Given the description of an element on the screen output the (x, y) to click on. 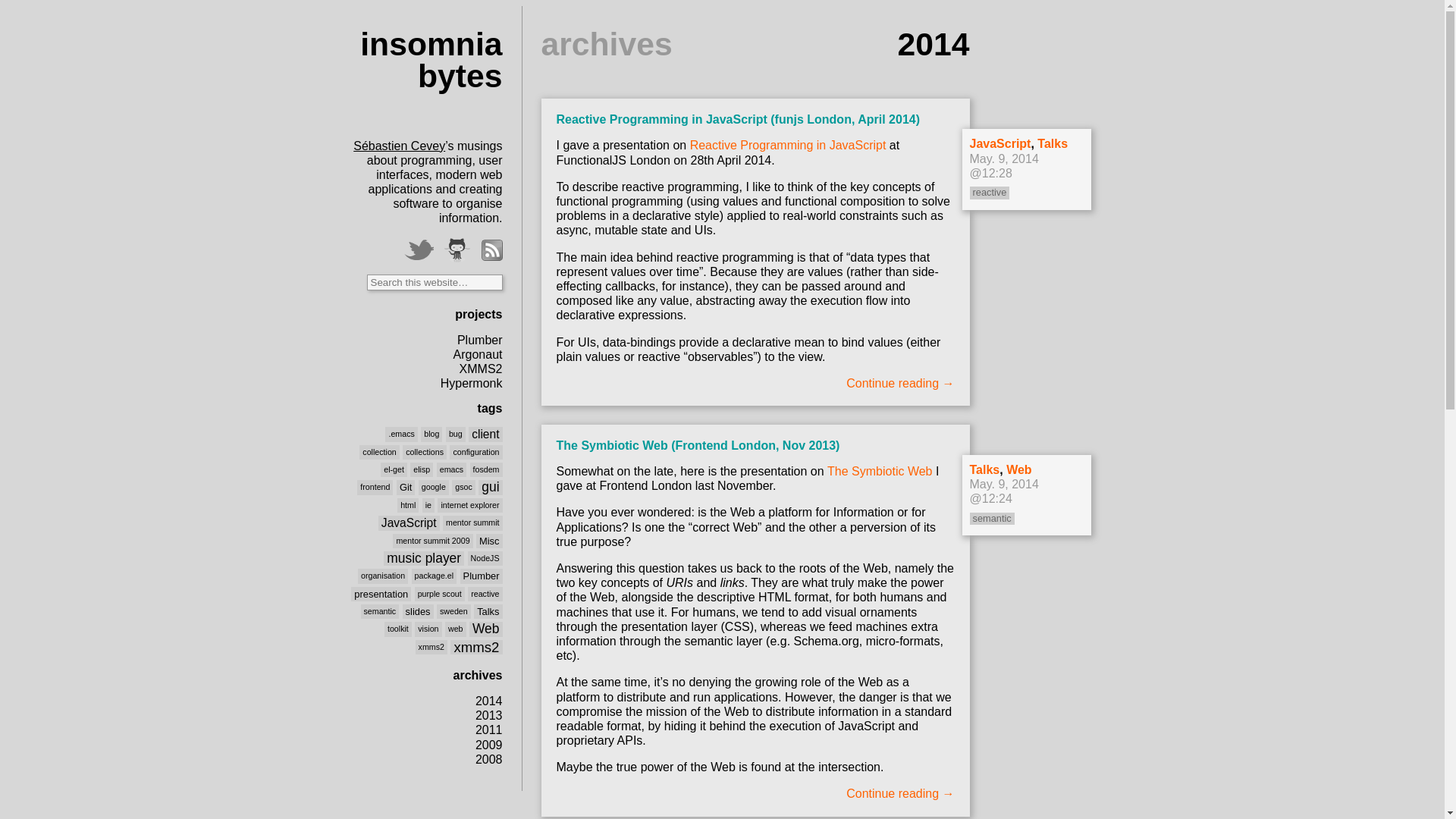
configuration Element type: text (475, 451)
bug Element type: text (455, 433)
2008 Element type: text (488, 759)
Hypermonk Element type: text (471, 382)
Web Element type: text (485, 628)
music player Element type: text (423, 557)
internet explorer Element type: text (469, 504)
sweden Element type: text (453, 610)
Plumber Element type: text (479, 339)
collections Element type: text (424, 451)
client Element type: text (484, 433)
The Symbiotic Web (Frontend London, Nov 2013) Element type: text (698, 445)
package.el Element type: text (434, 575)
web Element type: text (455, 628)
insomnia bytes Element type: text (431, 59)
May. 9, 2014 @12:28 Element type: text (1003, 165)
organisation Element type: text (382, 575)
blog Element type: text (431, 433)
Plumber Element type: text (481, 575)
ie Element type: text (428, 504)
semantic Element type: text (380, 610)
reactive Element type: text (484, 593)
mentor summit 2009 Element type: text (432, 540)
Misc Element type: text (488, 540)
collection Element type: text (378, 451)
reactive Element type: text (989, 191)
semantic Element type: text (991, 518)
XMMS2 Element type: text (480, 368)
mentor summit Element type: text (471, 522)
JavaScript Element type: text (999, 143)
theefer on Github Element type: hover (457, 250)
Git Element type: text (405, 486)
JavaScript Element type: text (408, 522)
xmms2 Element type: text (431, 646)
google Element type: text (433, 486)
Web Element type: text (1018, 469)
presentation Element type: text (380, 593)
Talks Element type: text (1052, 143)
NodeJS Element type: text (484, 557)
toolkit Element type: text (397, 628)
2009 Element type: text (488, 744)
fosdem Element type: text (486, 468)
theefer on Twitter Element type: hover (418, 250)
emacs Element type: text (451, 468)
slides Element type: text (417, 611)
RSS Feed Element type: hover (491, 250)
elisp Element type: text (421, 468)
2013 Element type: text (488, 715)
Argonaut Element type: text (477, 354)
.emacs Element type: text (401, 433)
gui Element type: text (489, 486)
xmms2 Element type: text (475, 647)
vision Element type: text (427, 628)
frontend Element type: text (374, 486)
purple scout Element type: text (439, 593)
gsoc Element type: text (463, 486)
Talks Element type: text (487, 611)
2014 Element type: text (488, 700)
html Element type: text (407, 504)
The Symbiotic Web Element type: text (879, 470)
Reactive Programming in JavaScript Element type: text (788, 144)
el-get Element type: text (393, 468)
May. 9, 2014 @12:24 Element type: text (1003, 491)
2011 Element type: text (488, 729)
Talks Element type: text (984, 469)
